Given the description of an element on the screen output the (x, y) to click on. 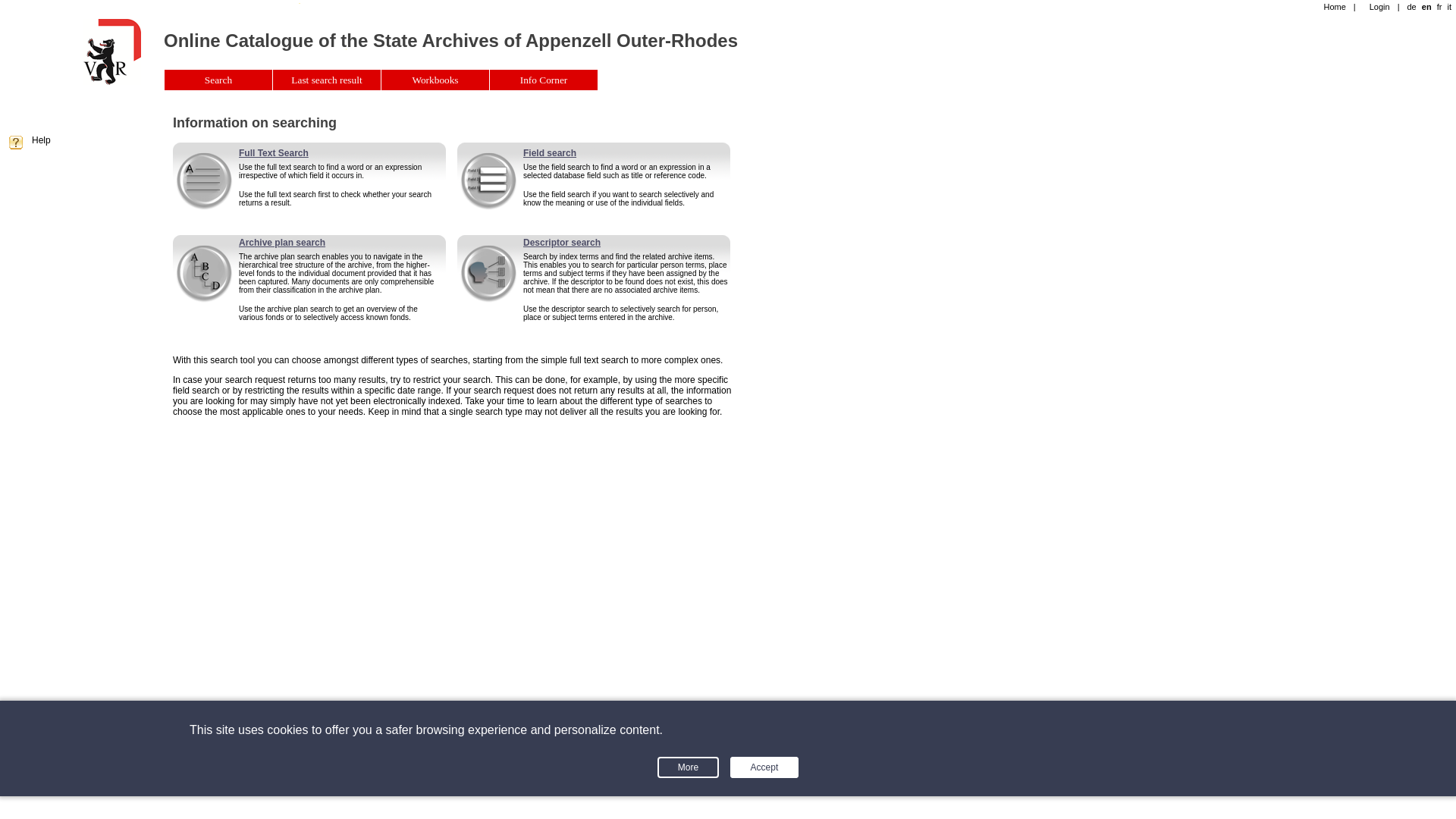
Full Text Search Element type: text (273, 152)
Descriptor search Element type: text (561, 242)
en Element type: text (1426, 6)
Home Element type: hover (112, 81)
Archive plan search Element type: text (281, 242)
Home Element type: hover (112, 51)
Info Corner Element type: text (543, 80)
fr Element type: text (1439, 6)
Help Element type: text (40, 139)
Last search result Element type: text (327, 80)
Workbooks Element type: text (435, 80)
Home Element type: text (1334, 6)
Login Element type: text (1379, 6)
More Element type: text (687, 767)
de Element type: text (1411, 6)
it Element type: text (1448, 6)
Field search Element type: text (549, 152)
Accept Element type: text (764, 767)
Search Element type: text (218, 80)
